Given the description of an element on the screen output the (x, y) to click on. 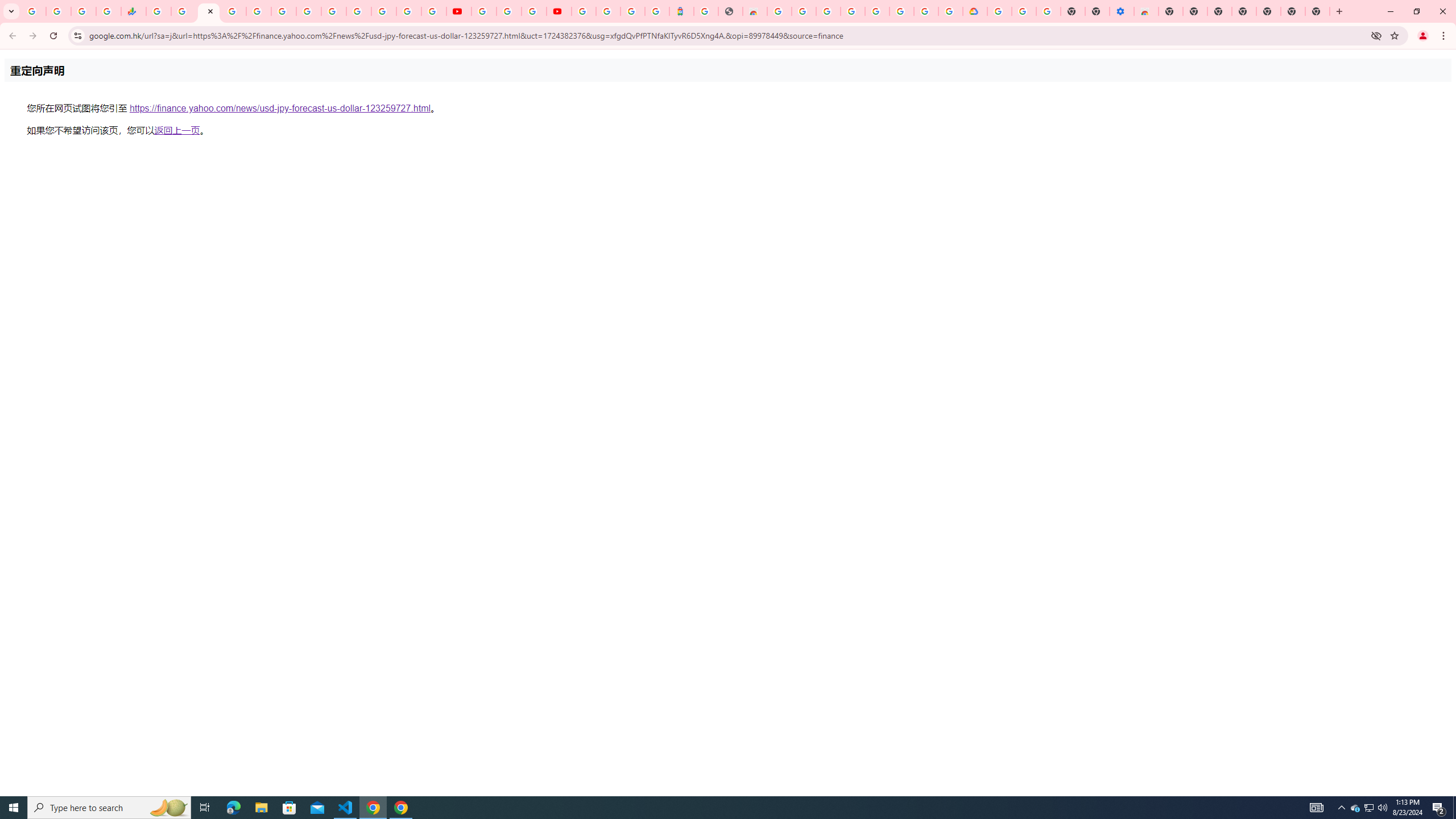
Browse the Google Chrome Community - Google Chrome Community (950, 11)
New Tab (1170, 11)
YouTube (458, 11)
Create your Google Account (925, 11)
Sign in - Google Accounts (583, 11)
